Given the description of an element on the screen output the (x, y) to click on. 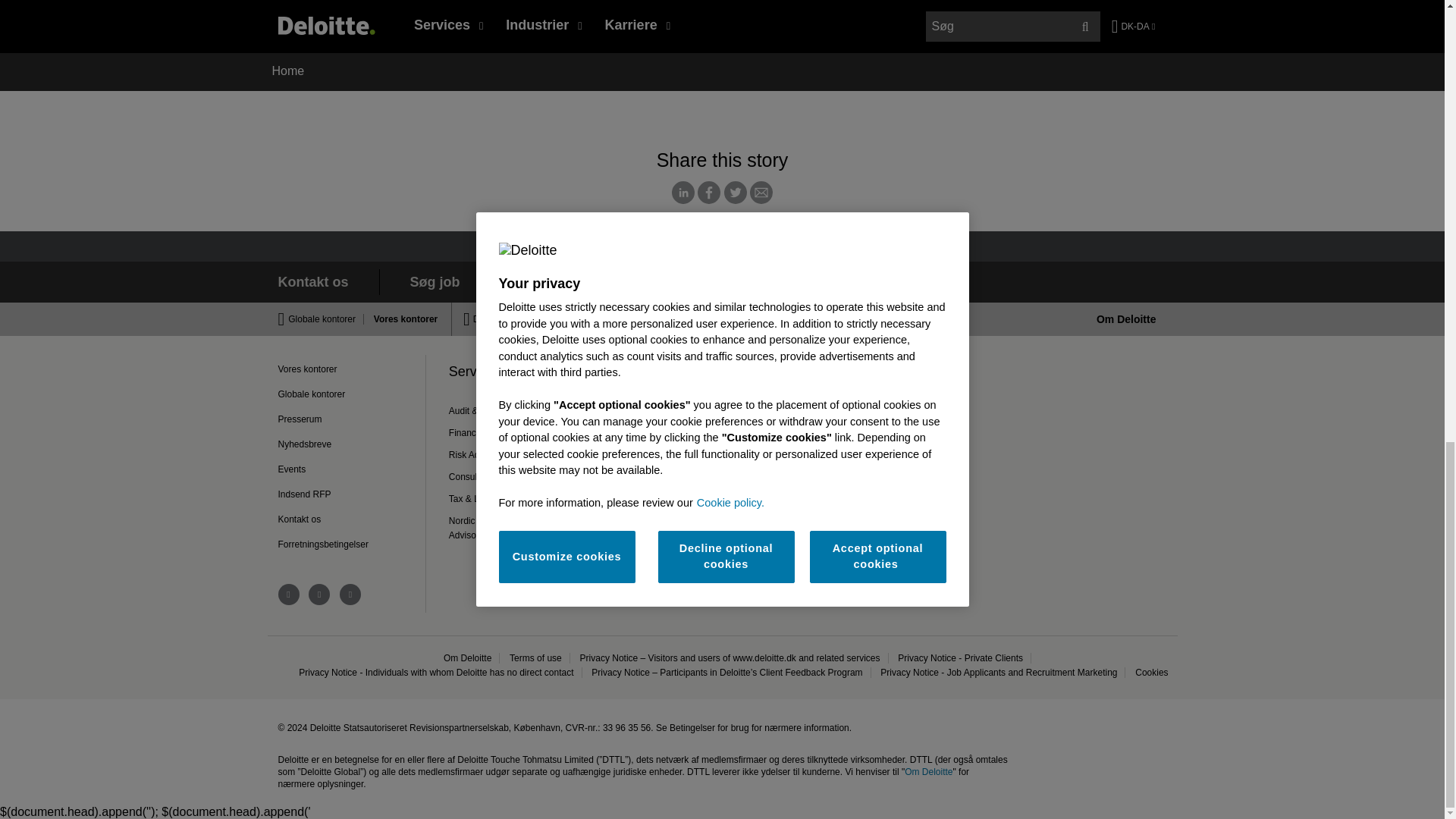
facebook (319, 594)
twitter (350, 594)
linkedin (288, 594)
Vores kontorer (402, 318)
Globale kontorer (326, 318)
Om Deloitte (1126, 318)
